Given the description of an element on the screen output the (x, y) to click on. 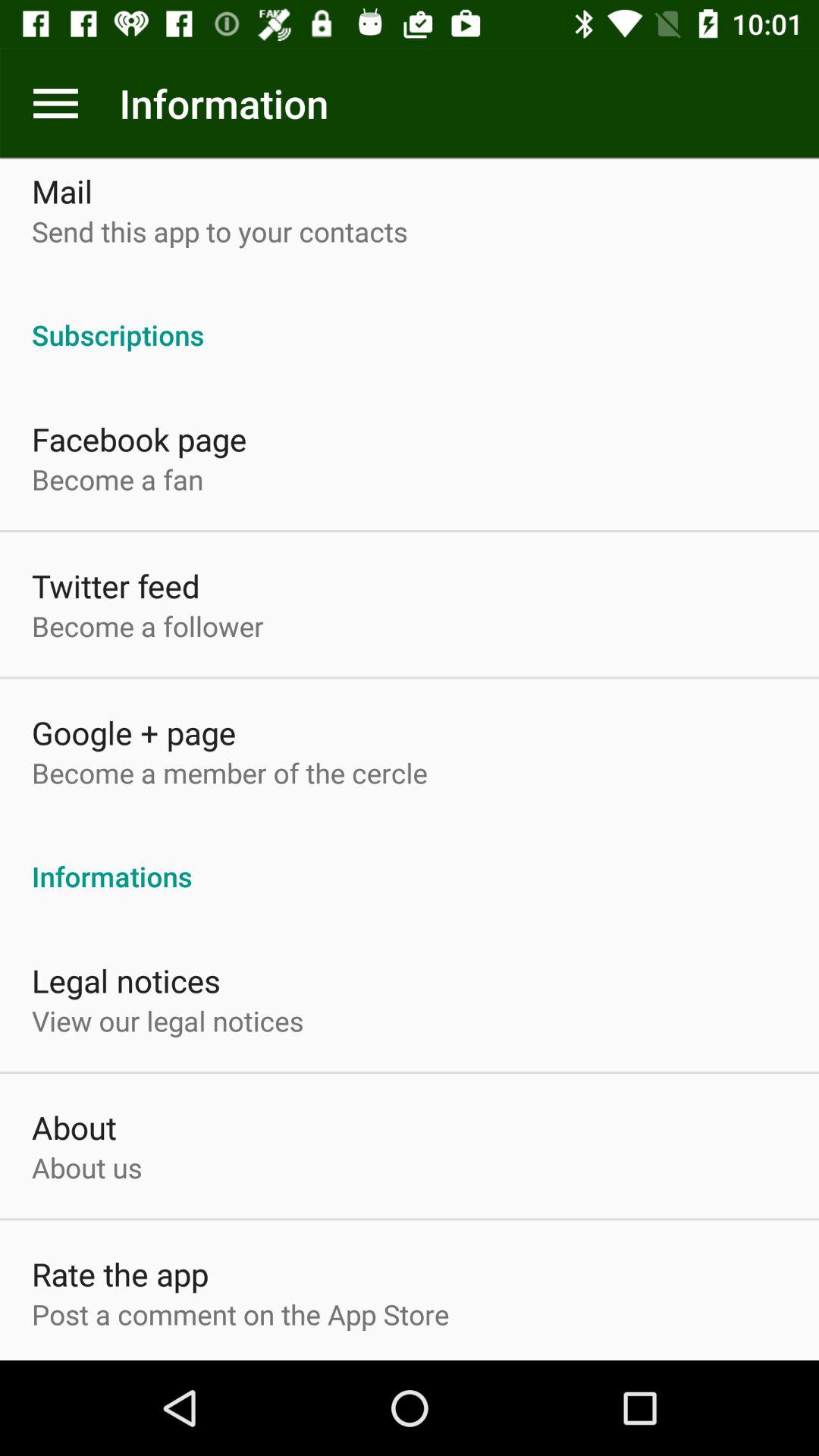
tap the item above the mail (55, 103)
